Given the description of an element on the screen output the (x, y) to click on. 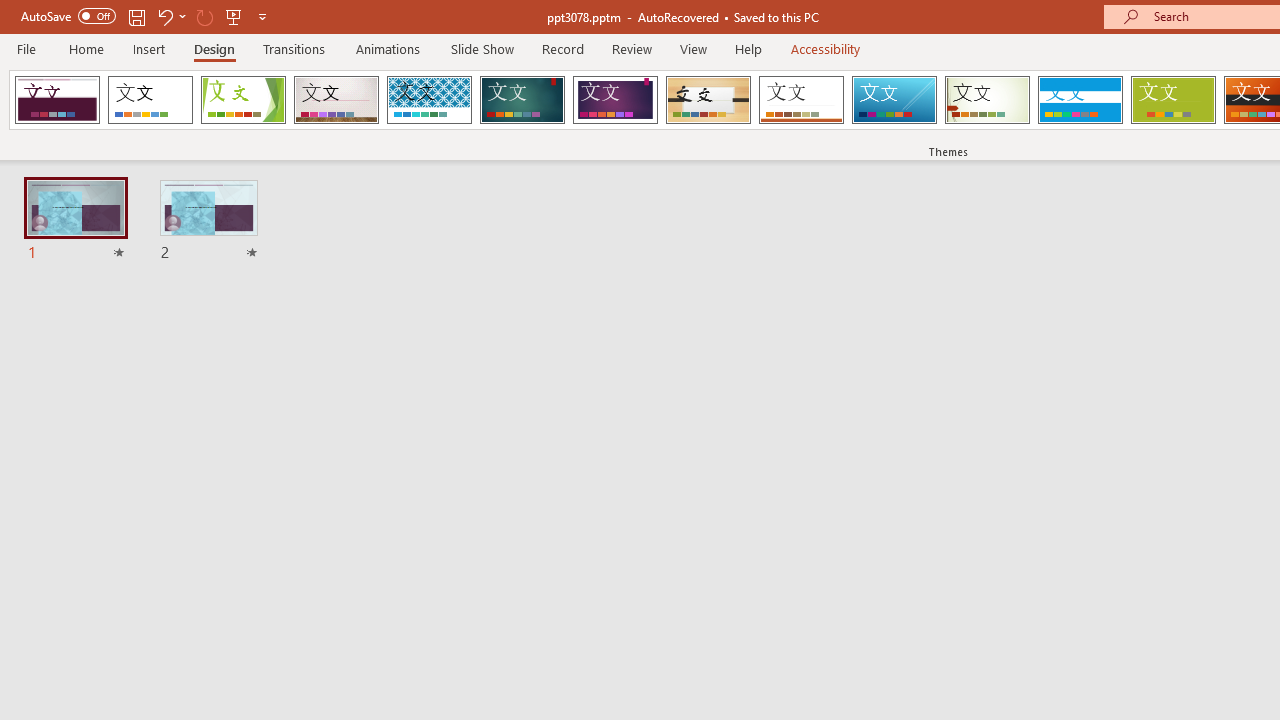
Facet (243, 100)
Organic (708, 100)
